Given the description of an element on the screen output the (x, y) to click on. 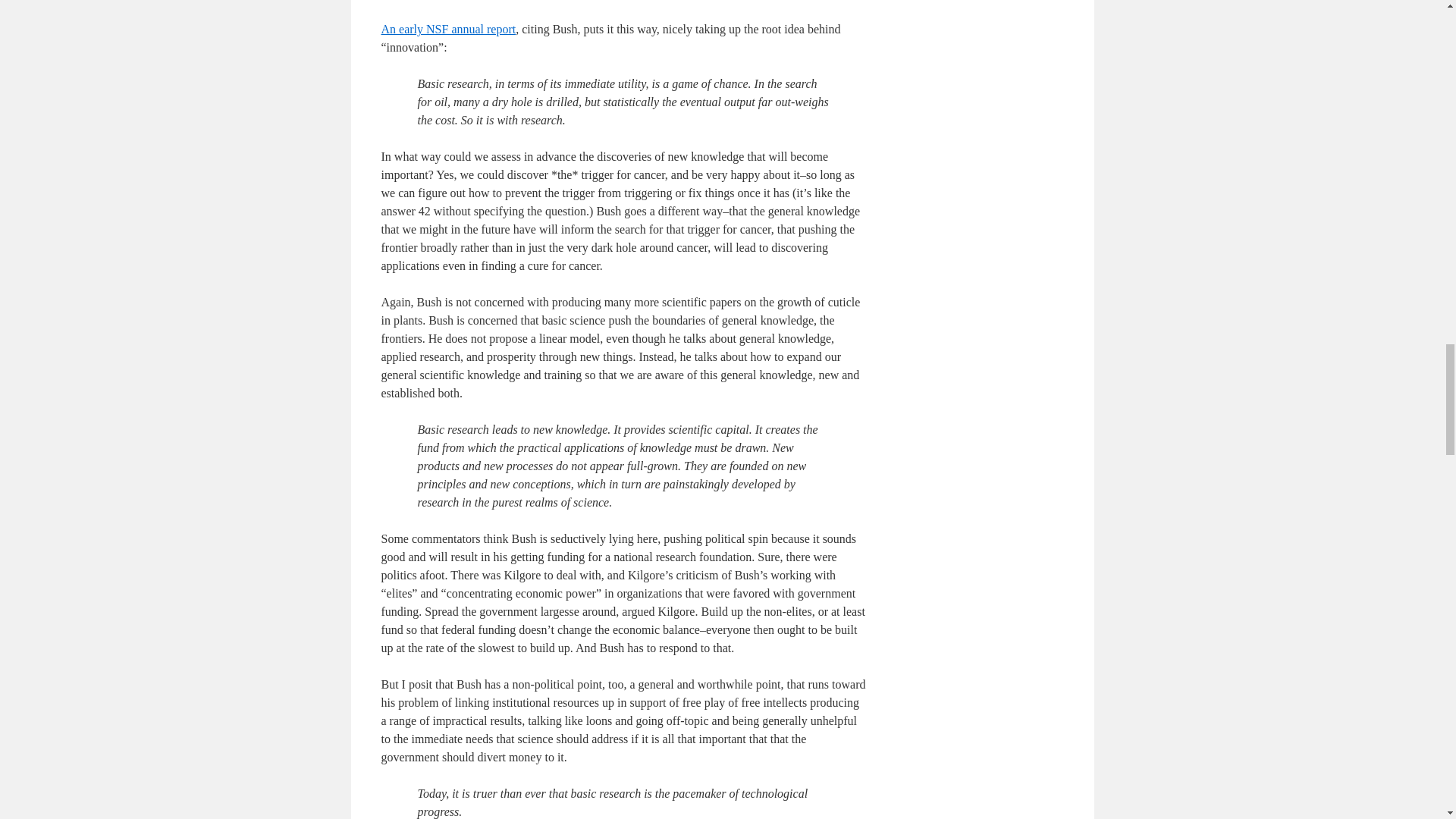
An early NSF annual report (447, 29)
